Given the description of an element on the screen output the (x, y) to click on. 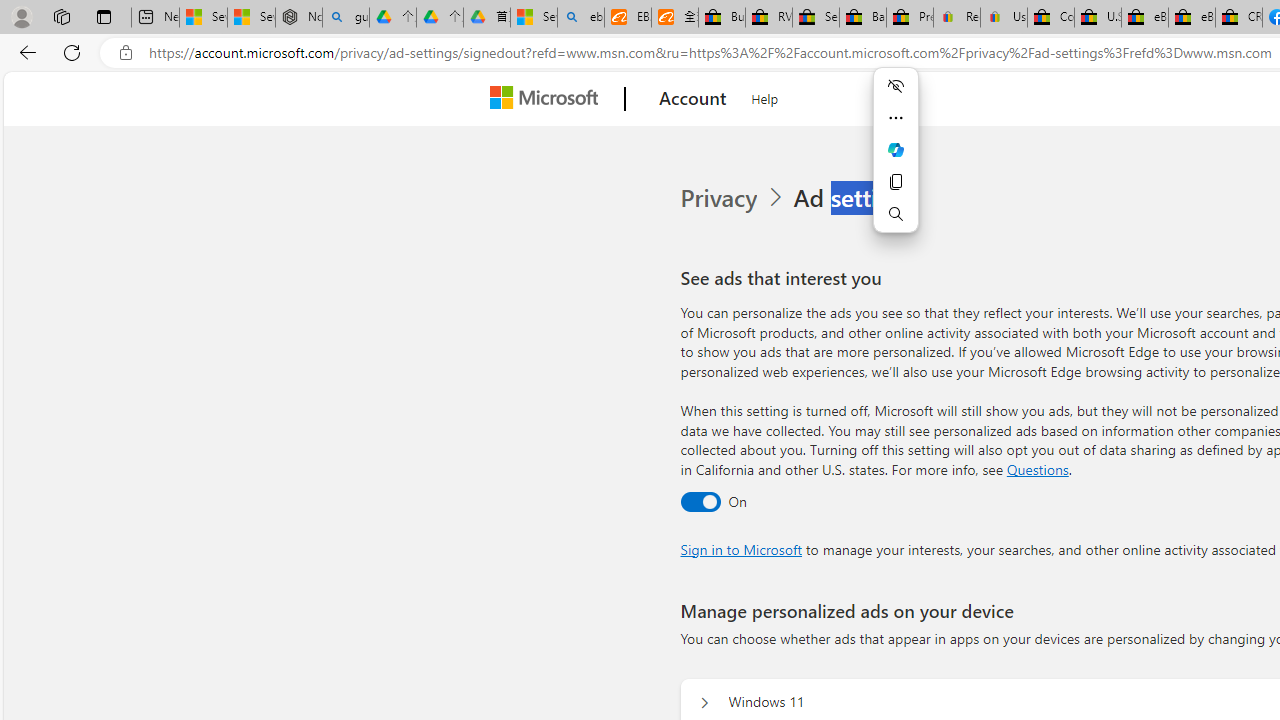
guge yunpan - Search (345, 17)
Ad settings (858, 197)
Buy Auto Parts & Accessories | eBay (721, 17)
Microsoft (548, 99)
Sign in to Microsoft (740, 548)
Copy (895, 182)
RV, Trailer & Camper Steps & Ladders for sale | eBay (769, 17)
U.S. State Privacy Disclosures - eBay Inc. (1098, 17)
User Privacy Notice | eBay (1003, 17)
